Given the description of an element on the screen output the (x, y) to click on. 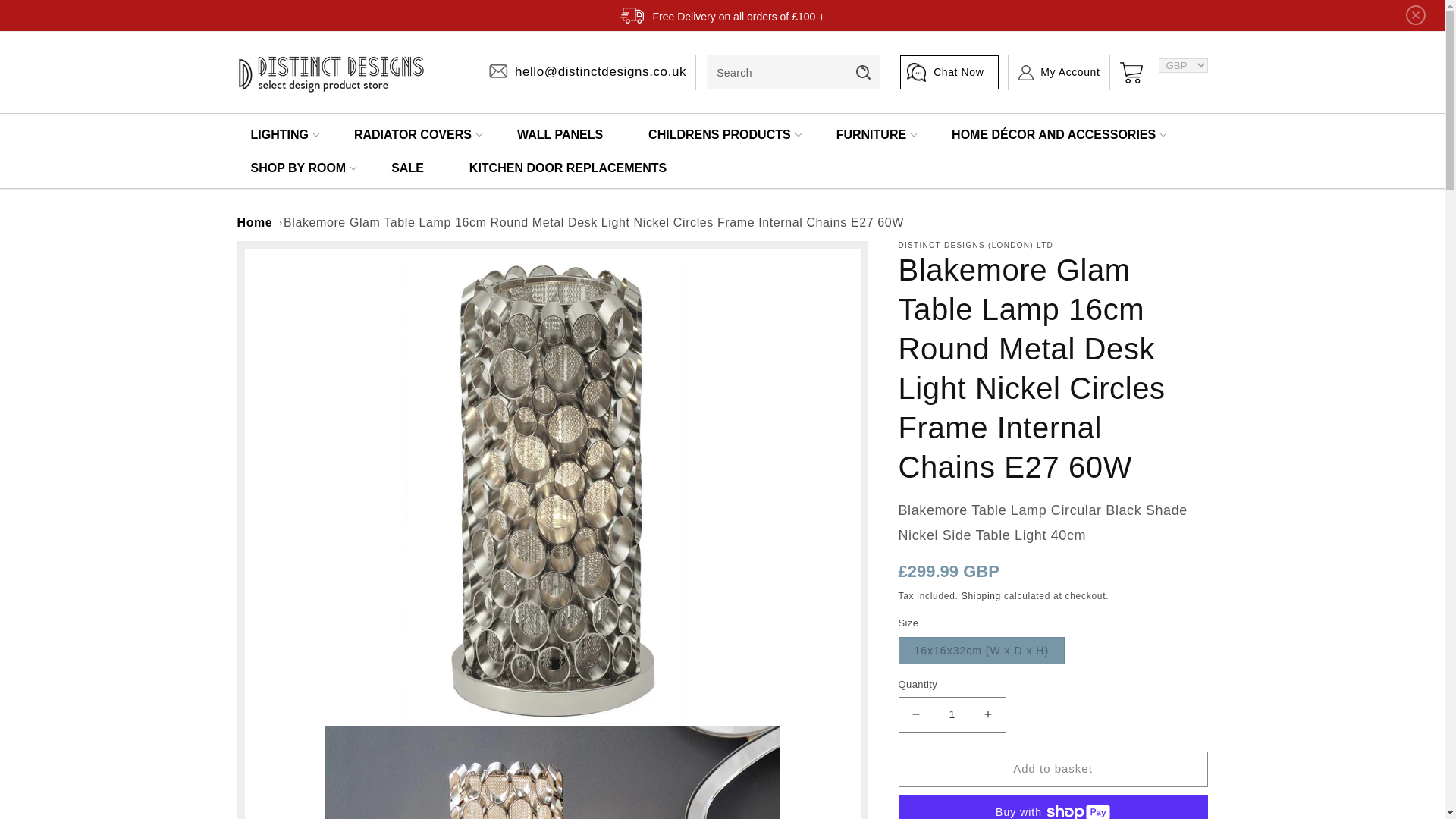
Skip to content (45, 17)
1 (952, 714)
